Given the description of an element on the screen output the (x, y) to click on. 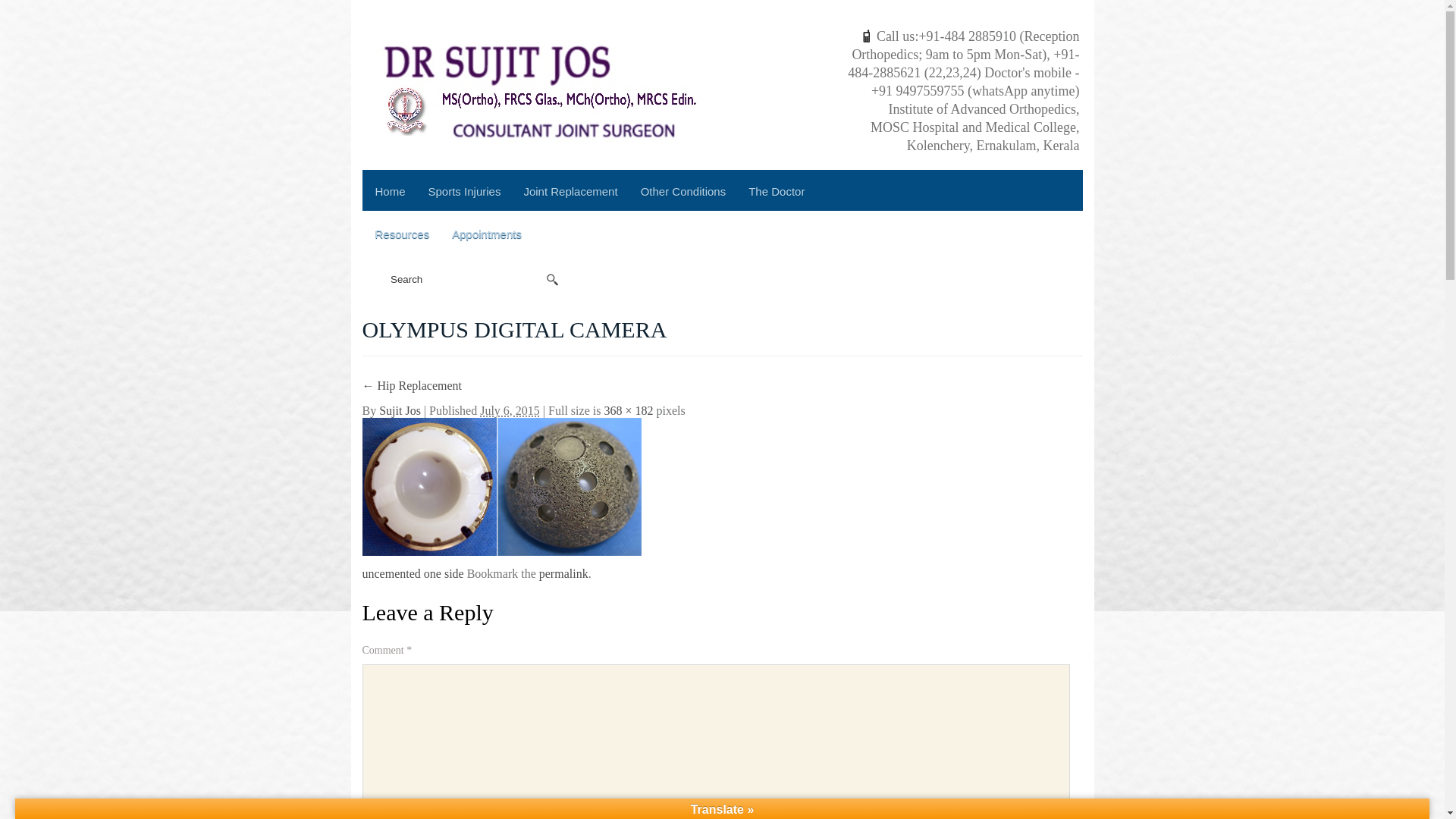
Return to Hip Replacement (412, 385)
OLYMPUS DIGITAL CAMERA (502, 485)
Search (463, 278)
View all posts by Sujit Jos (399, 410)
2:46 PM (510, 410)
Link to full-size image (628, 410)
Permalink to OLYMPUS DIGITAL CAMERA (563, 573)
